Given the description of an element on the screen output the (x, y) to click on. 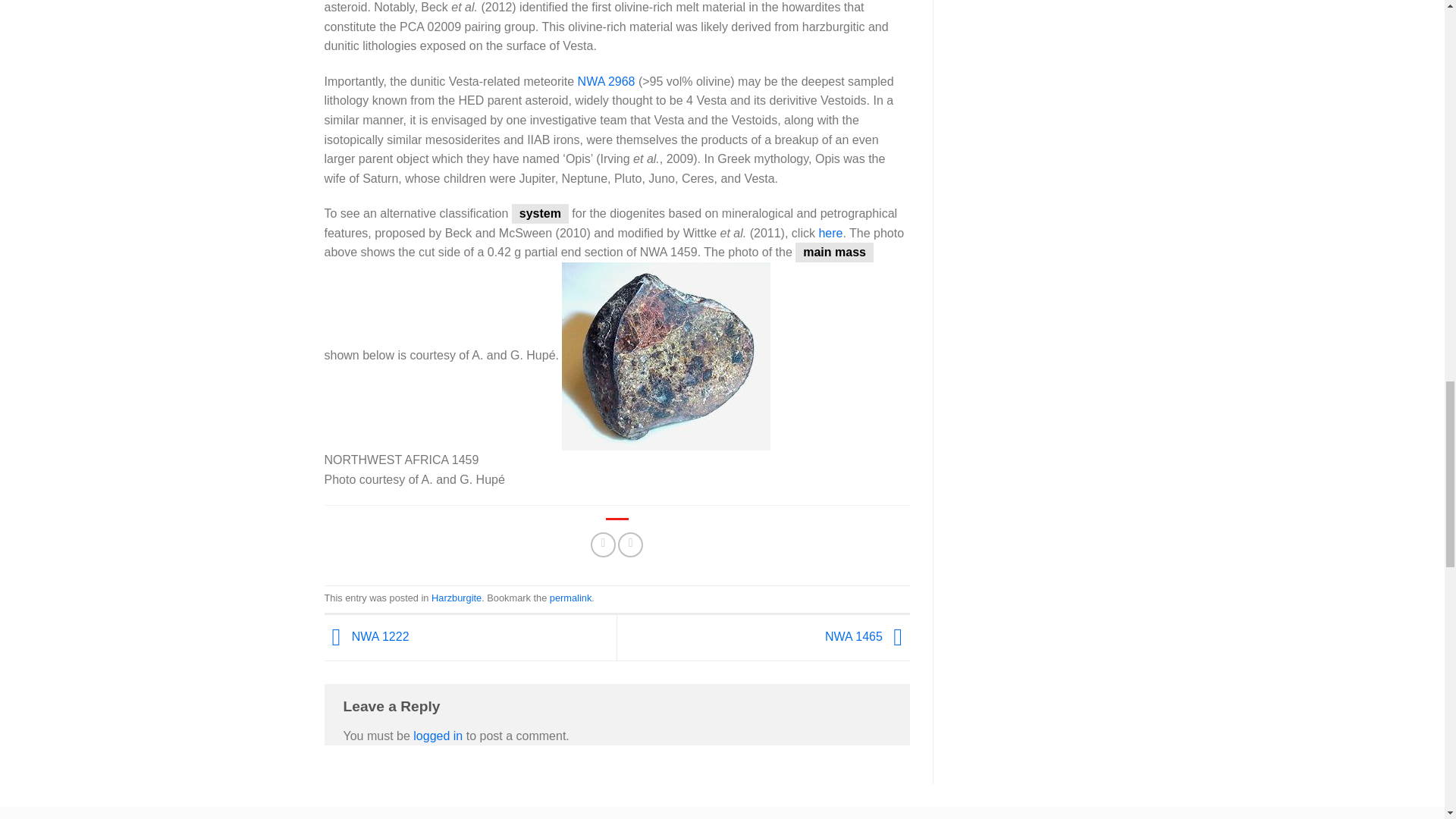
Permalink to NWA 1459 (570, 597)
Email to a Friend (630, 544)
Share on Facebook (603, 544)
